Given the description of an element on the screen output the (x, y) to click on. 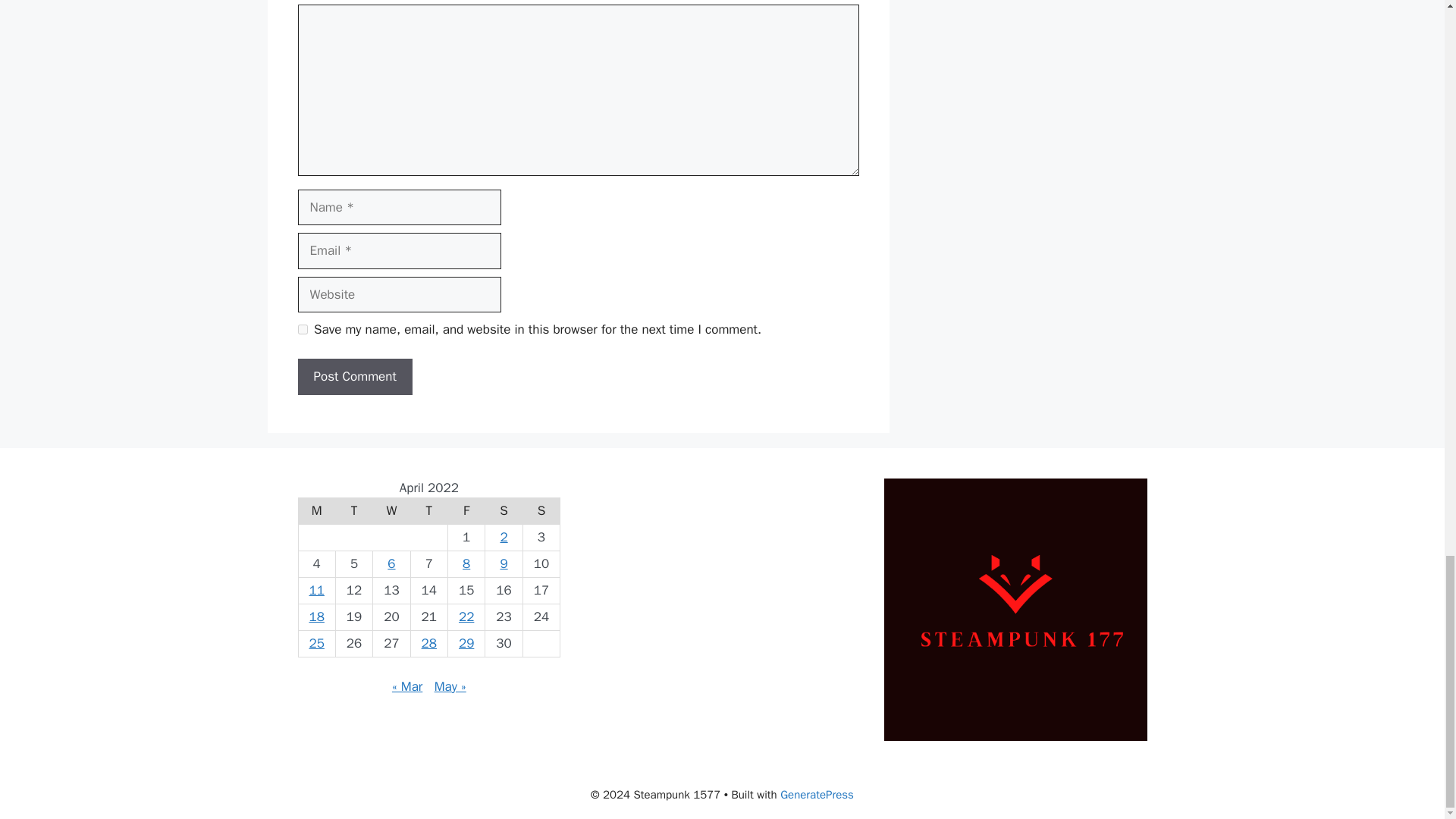
18 (315, 616)
Saturday (503, 510)
Post Comment (354, 376)
29 (466, 643)
Monday (316, 510)
22 (466, 616)
25 (315, 643)
28 (429, 643)
Wednesday (391, 510)
Tuesday (353, 510)
